Given the description of an element on the screen output the (x, y) to click on. 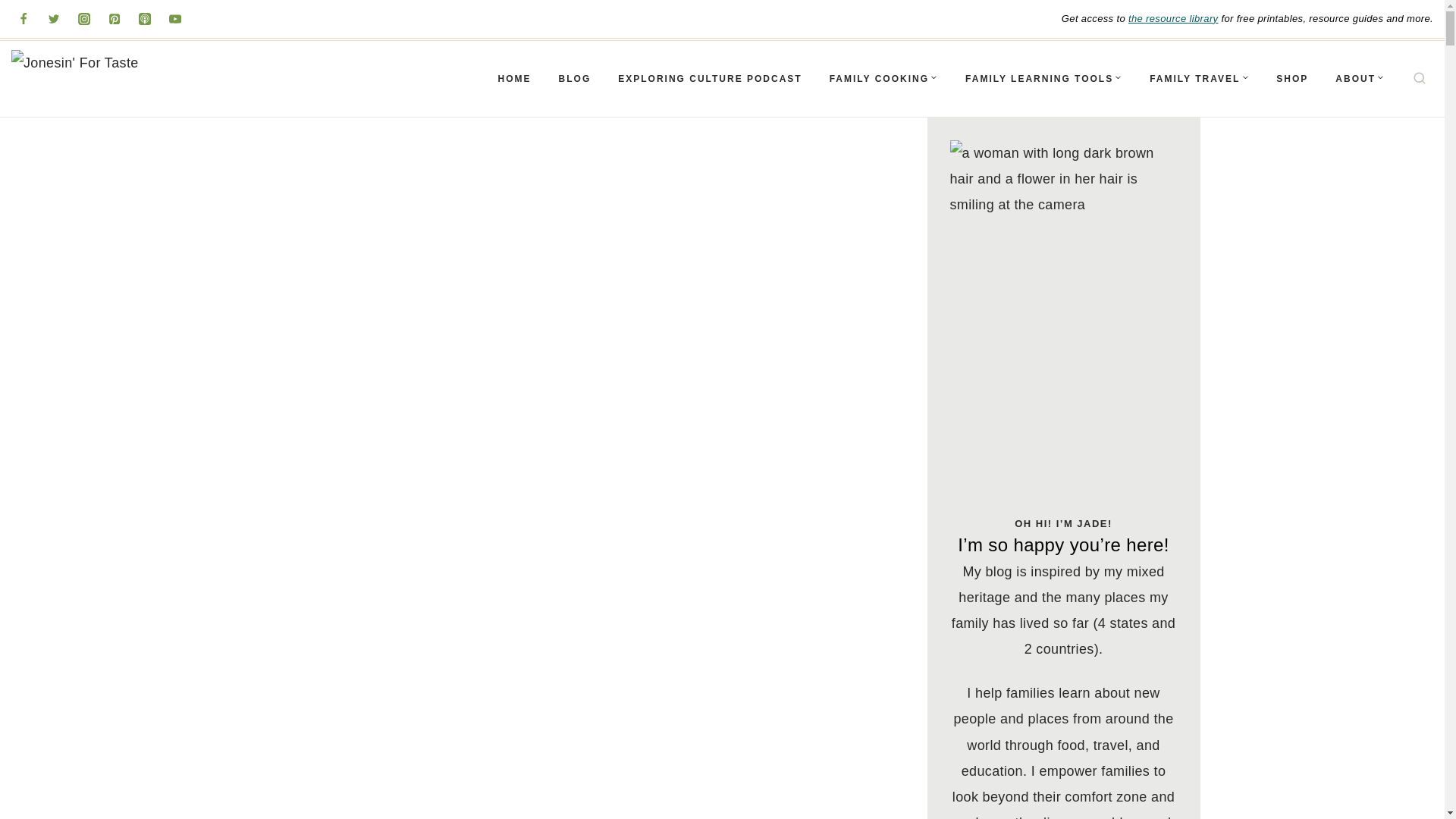
ABOUT (1359, 79)
the resource library (1172, 18)
HOME (514, 79)
FAMILY TRAVEL (1198, 79)
SHOP (1292, 79)
EXPLORING CULTURE PODCAST (709, 79)
BLOG (574, 79)
FAMILY COOKING (883, 79)
FAMILY LEARNING TOOLS (1043, 79)
